Given the description of an element on the screen output the (x, y) to click on. 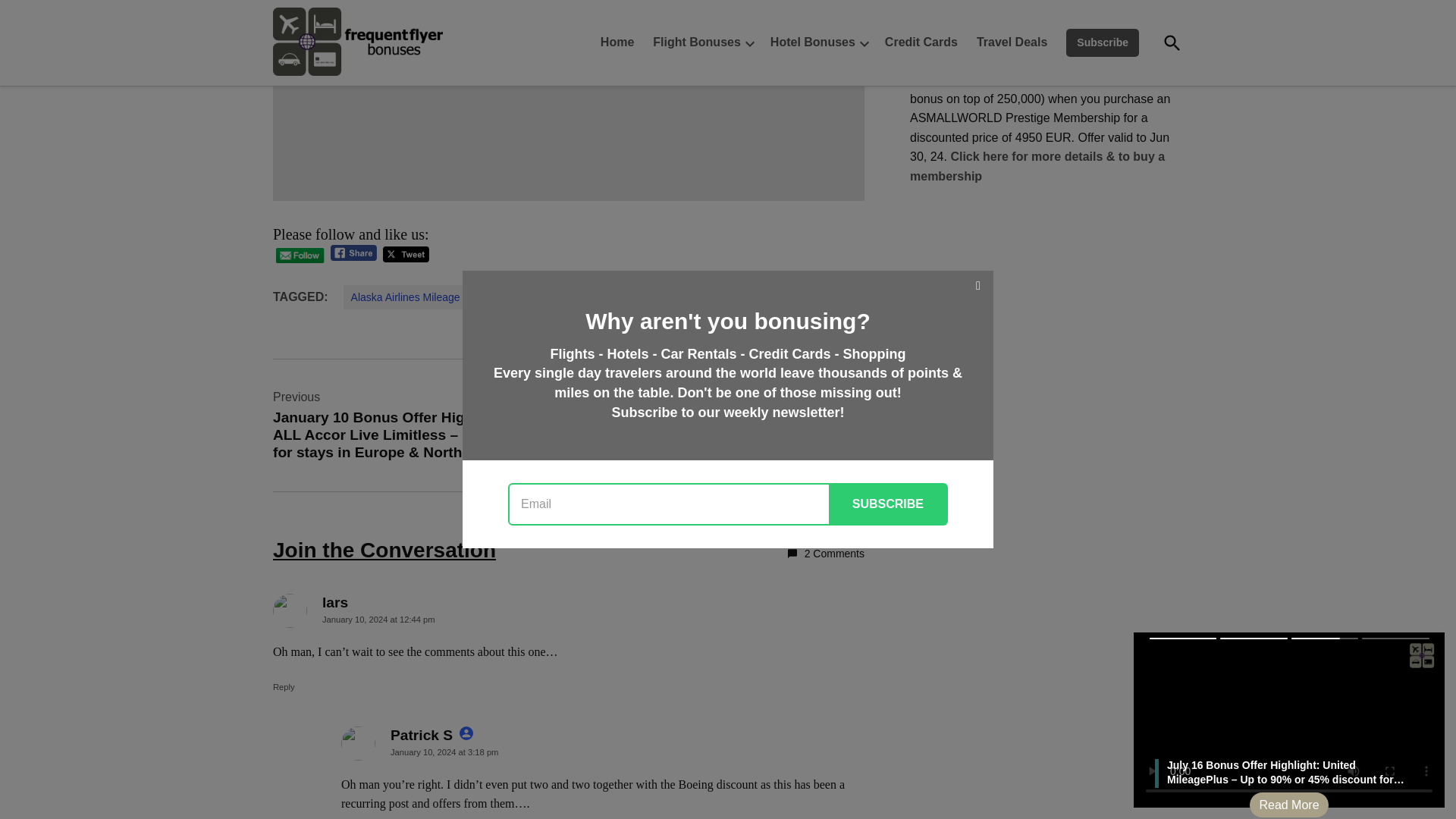
Article author (465, 733)
